Given the description of an element on the screen output the (x, y) to click on. 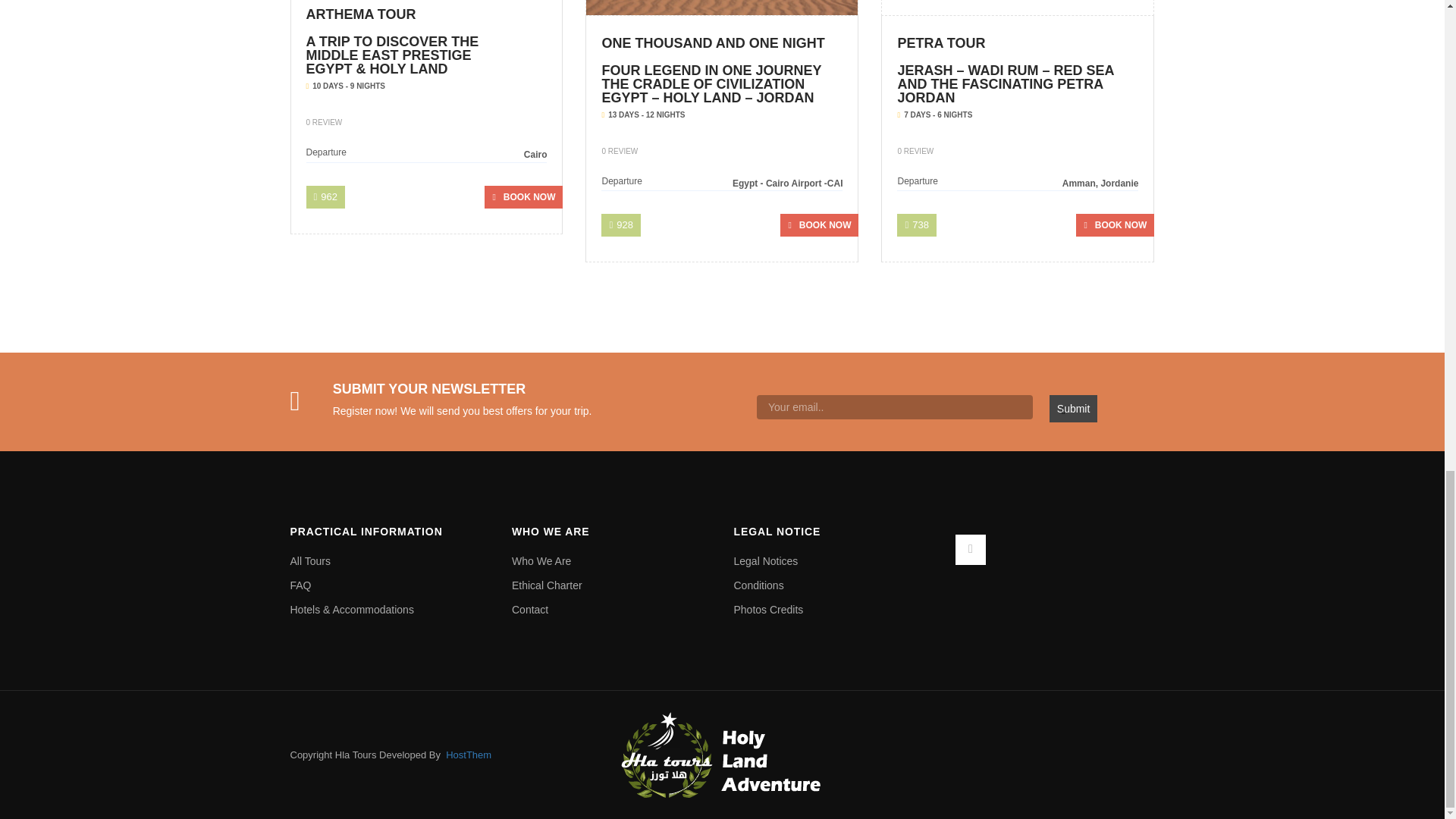
BOOK NOW (1114, 224)
BOOK NOW (523, 196)
BOOK NOW (819, 224)
Submit (1073, 408)
Contact (611, 609)
FAQ (389, 585)
Ethical Charter (611, 585)
Submit (1073, 408)
Who We Are (611, 560)
All Tours (389, 560)
